Given the description of an element on the screen output the (x, y) to click on. 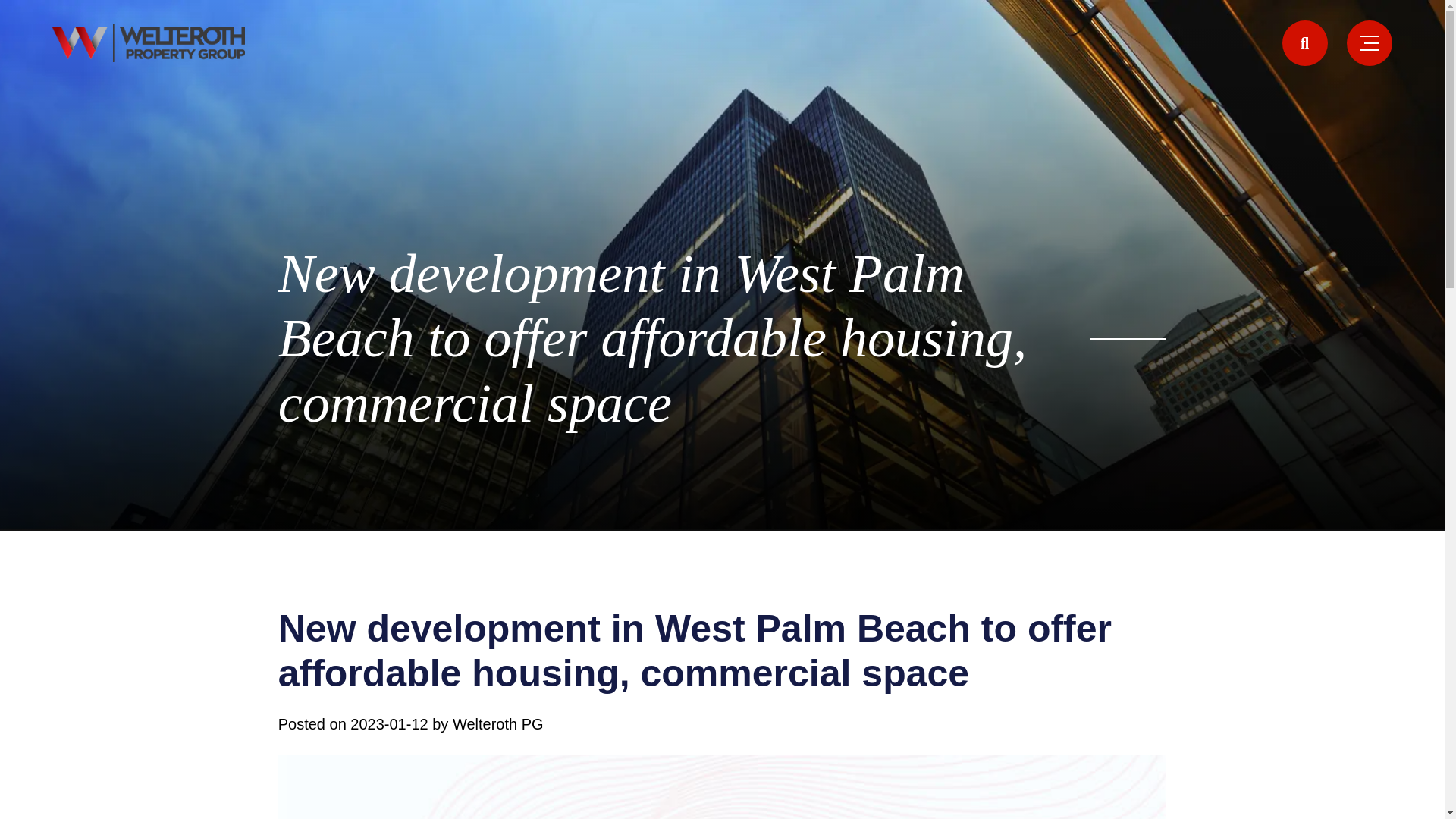
Welteroth PG (497, 723)
2023-01-12 (389, 723)
